Given the description of an element on the screen output the (x, y) to click on. 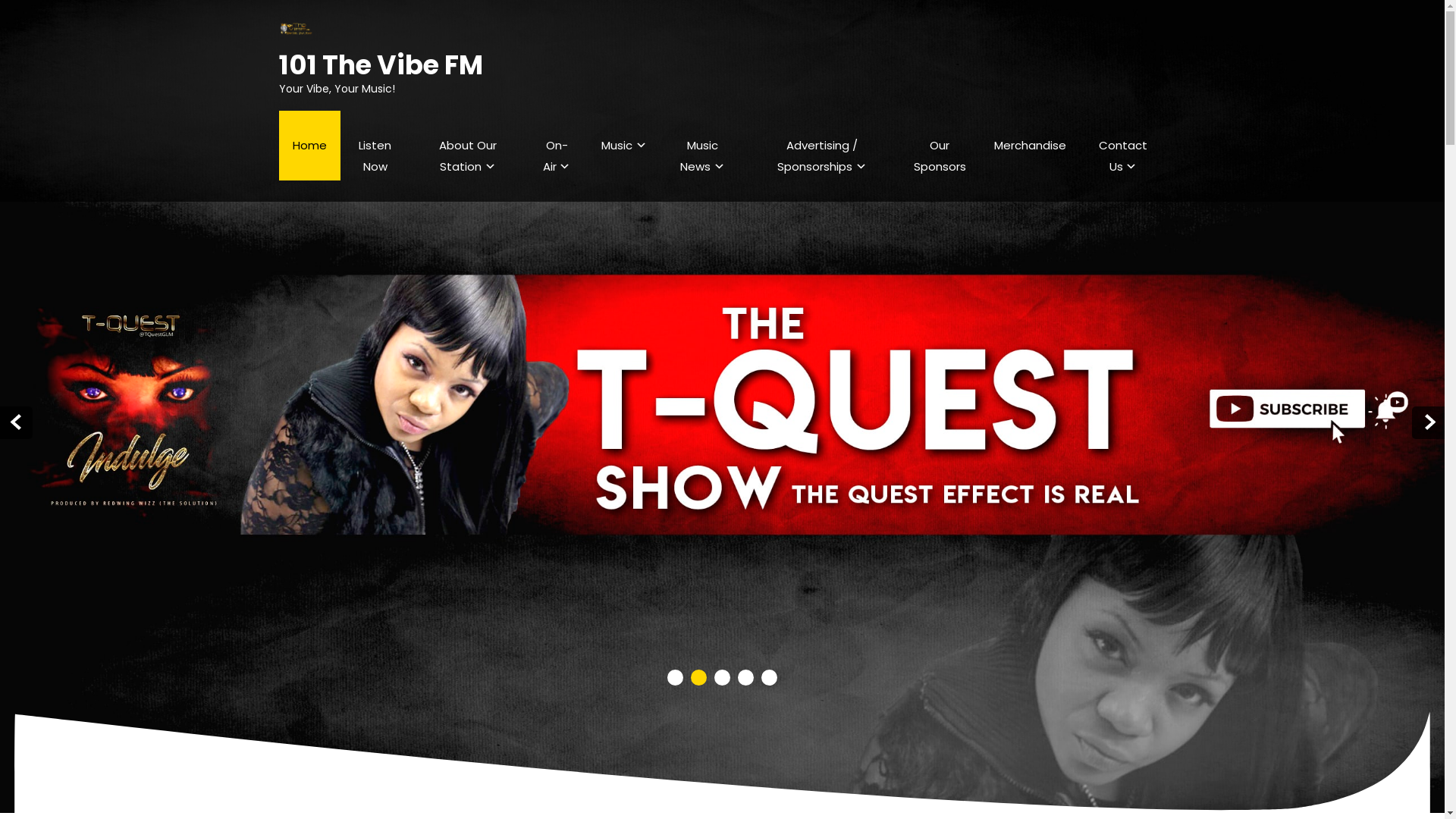
5 Element type: text (769, 677)
Merchandise Element type: text (1029, 145)
Home Element type: text (309, 145)
Music Element type: text (623, 145)
About Our Station Element type: text (467, 155)
Next Element type: text (1428, 422)
1 Element type: text (675, 677)
Prev Element type: text (16, 422)
101 The Vibe FM Element type: text (381, 64)
Advertising / Sponsorships Element type: text (821, 155)
Music News Element type: text (702, 155)
Listen Now Element type: text (374, 155)
On-Air Element type: text (556, 155)
3 Element type: text (722, 677)
Our Sponsors Element type: text (939, 155)
Contact Us Element type: text (1122, 155)
4 Element type: text (745, 677)
2 Element type: text (698, 677)
